Given the description of an element on the screen output the (x, y) to click on. 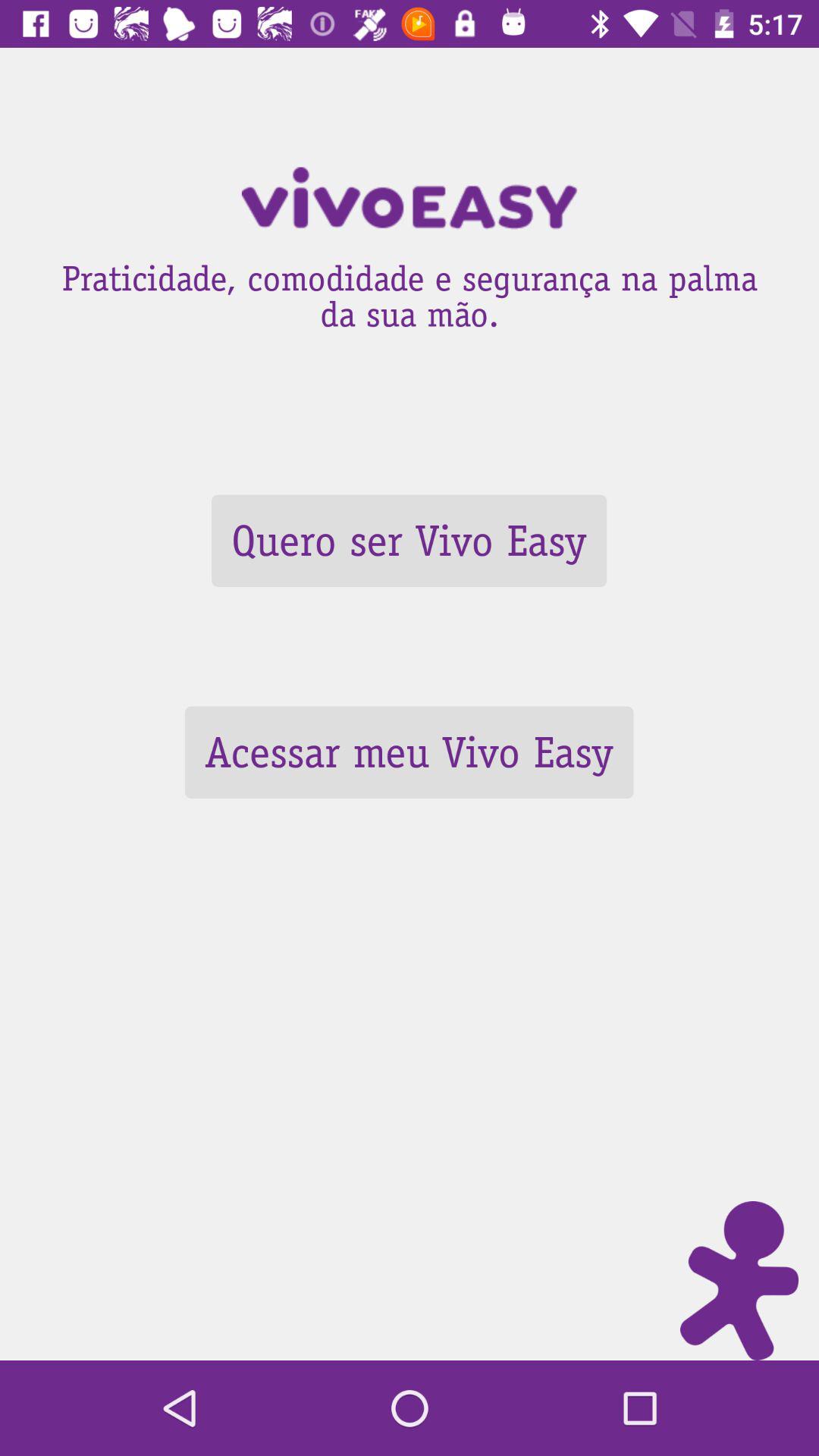
scroll until the acessar meu vivo icon (408, 752)
